Given the description of an element on the screen output the (x, y) to click on. 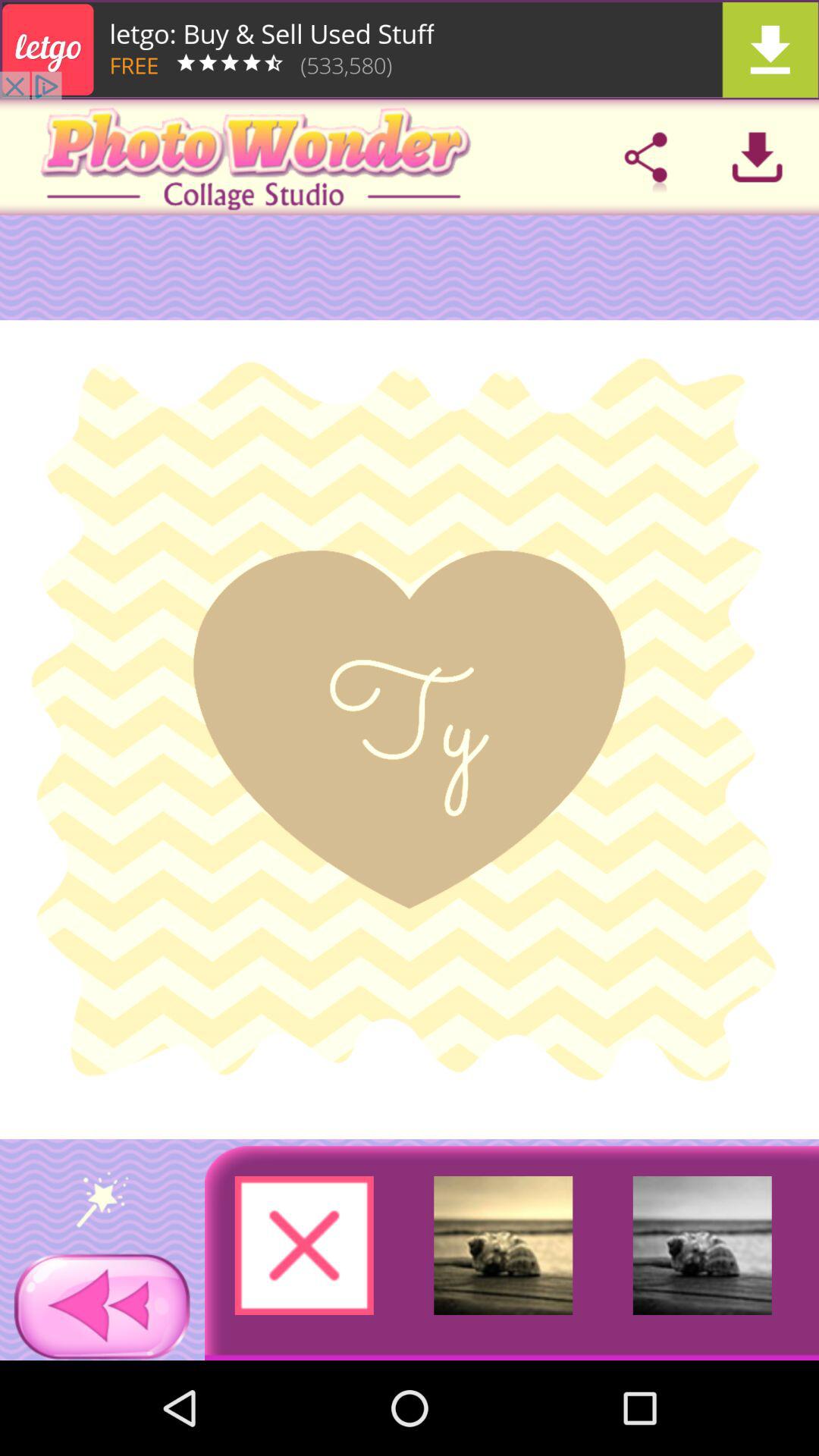
click the advertisement (409, 49)
